Given the description of an element on the screen output the (x, y) to click on. 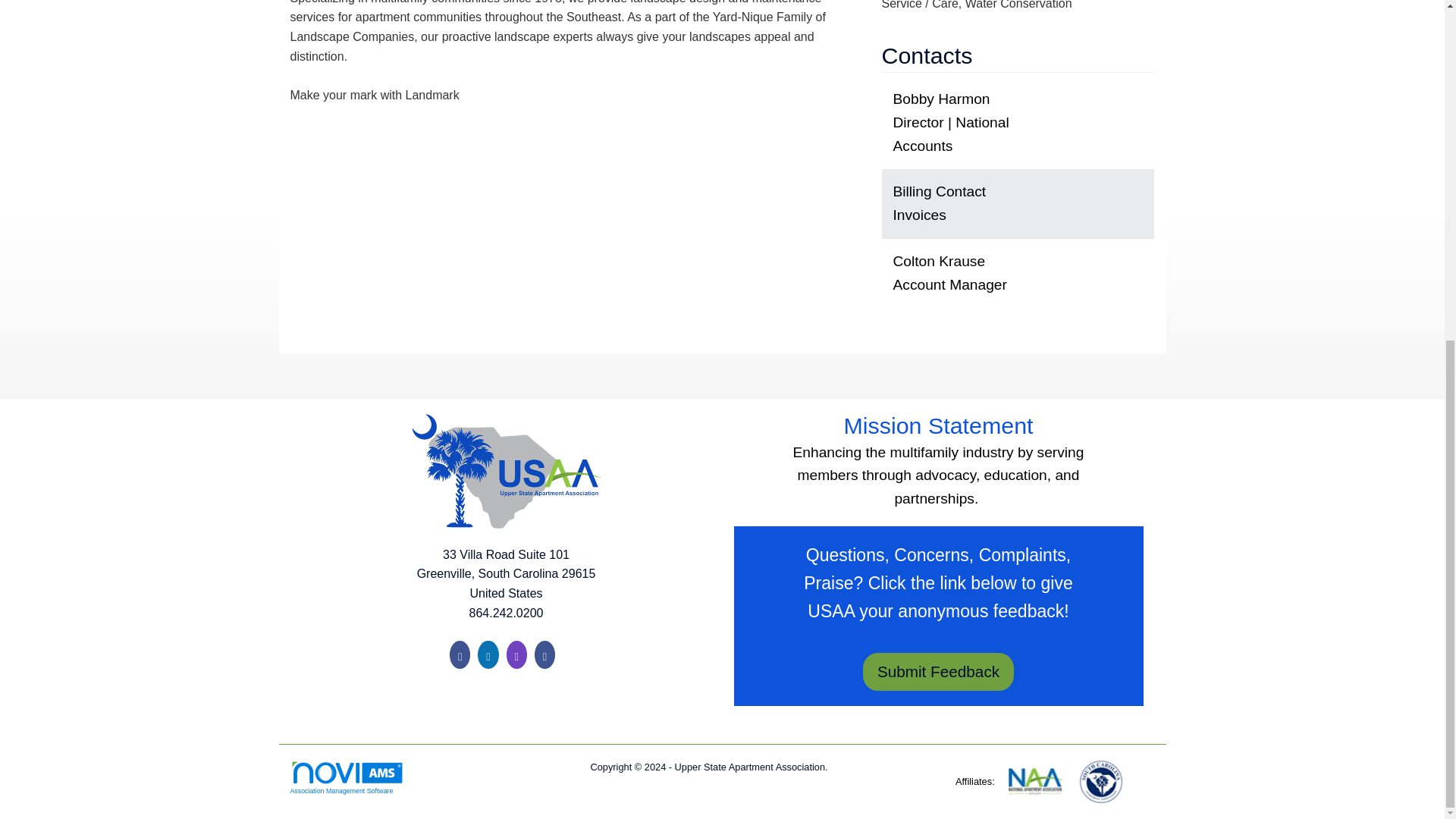
Submit Feedback (938, 671)
NAA (1036, 780)
SCAA (1100, 780)
